Given the description of an element on the screen output the (x, y) to click on. 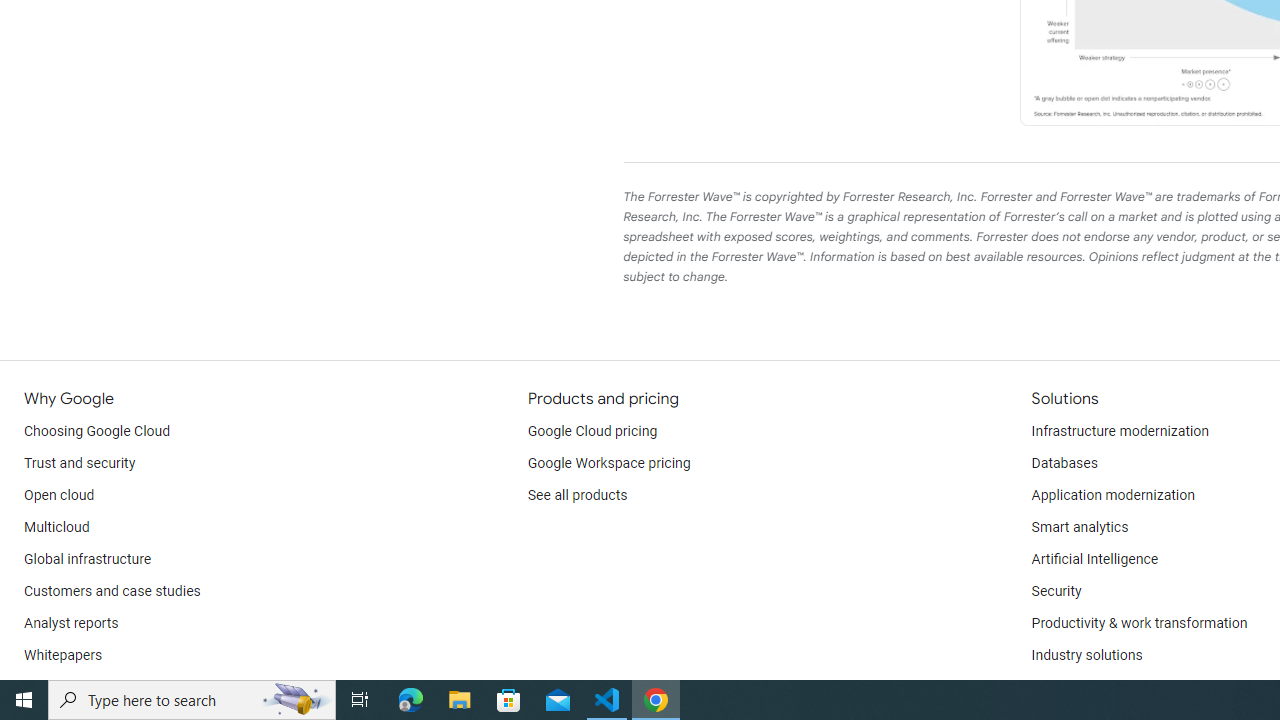
Global infrastructure (88, 560)
Artificial Intelligence (1094, 560)
Multicloud (56, 527)
Open cloud (59, 495)
Industry solutions (1086, 655)
See all products (577, 495)
Trust and security (79, 463)
